Given the description of an element on the screen output the (x, y) to click on. 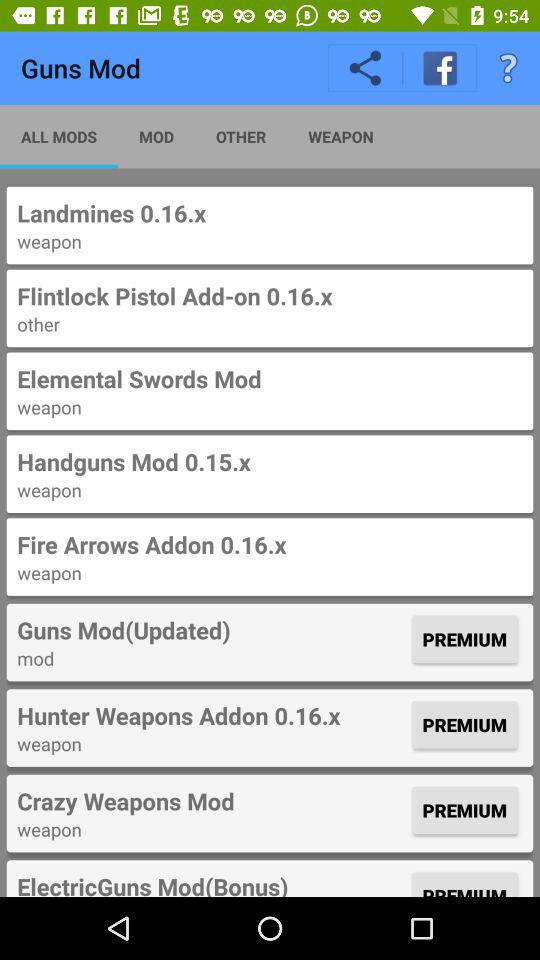
turn on item above landmines 0 16 item (59, 136)
